Given the description of an element on the screen output the (x, y) to click on. 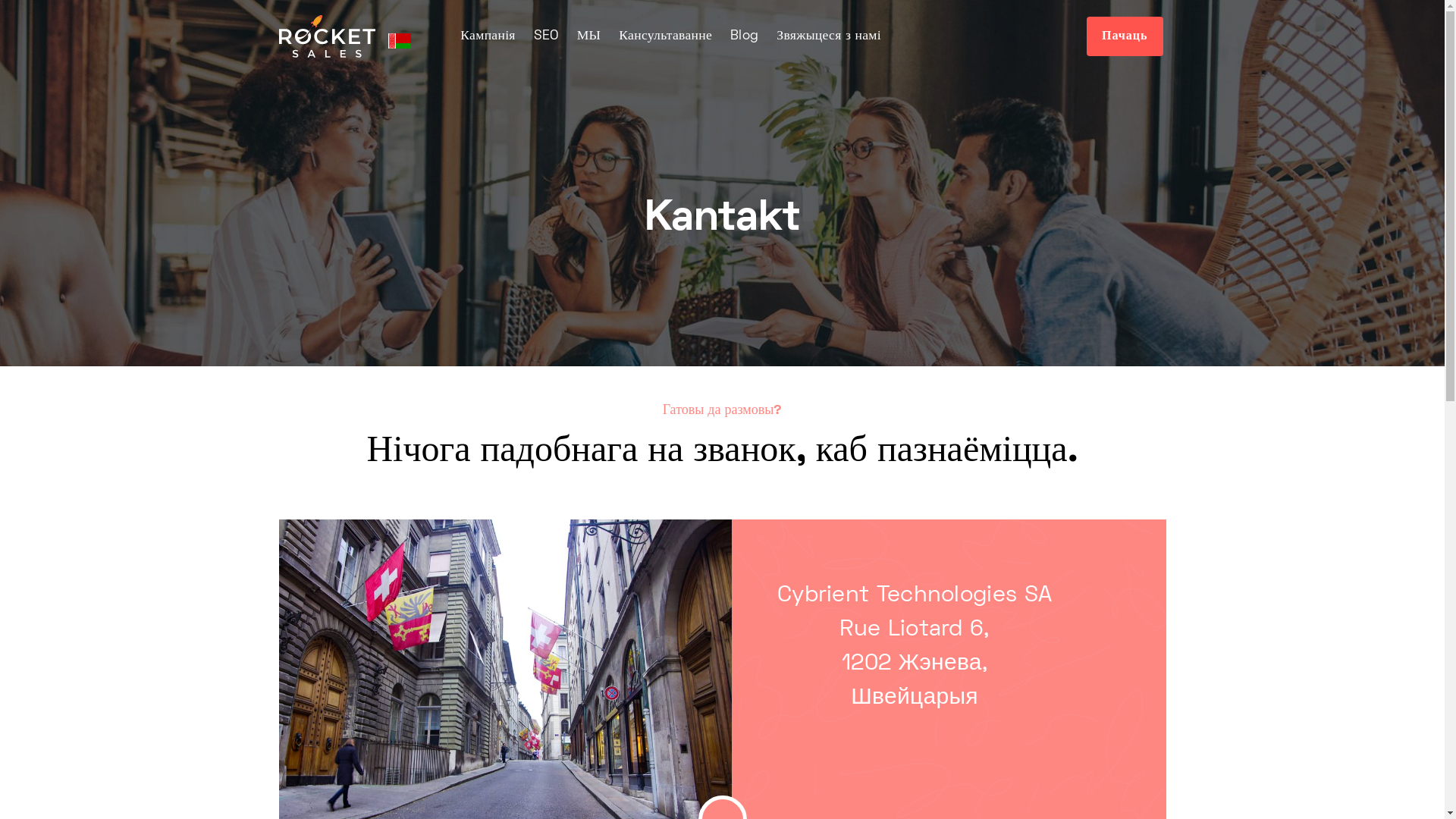
Facebook Marketplace Element type: text (819, 226)
Blog Element type: text (744, 36)
SEO Element type: text (545, 36)
Krainach Element type: hover (399, 40)
